Given the description of an element on the screen output the (x, y) to click on. 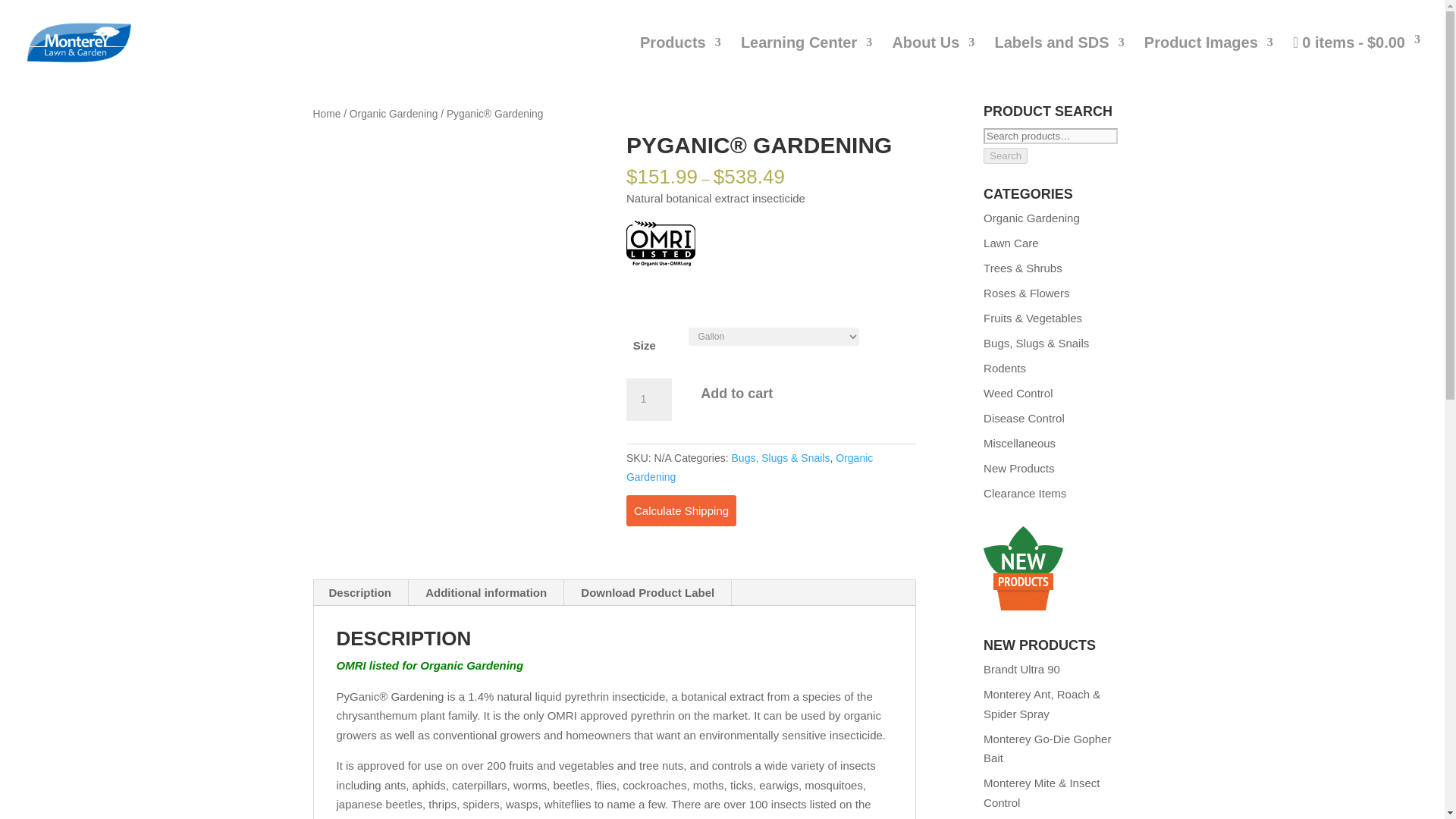
About Us (932, 58)
Start shopping (1356, 59)
Products (680, 58)
Learning Center (806, 58)
Labels and SDS (1059, 58)
1 (648, 399)
